Given the description of an element on the screen output the (x, y) to click on. 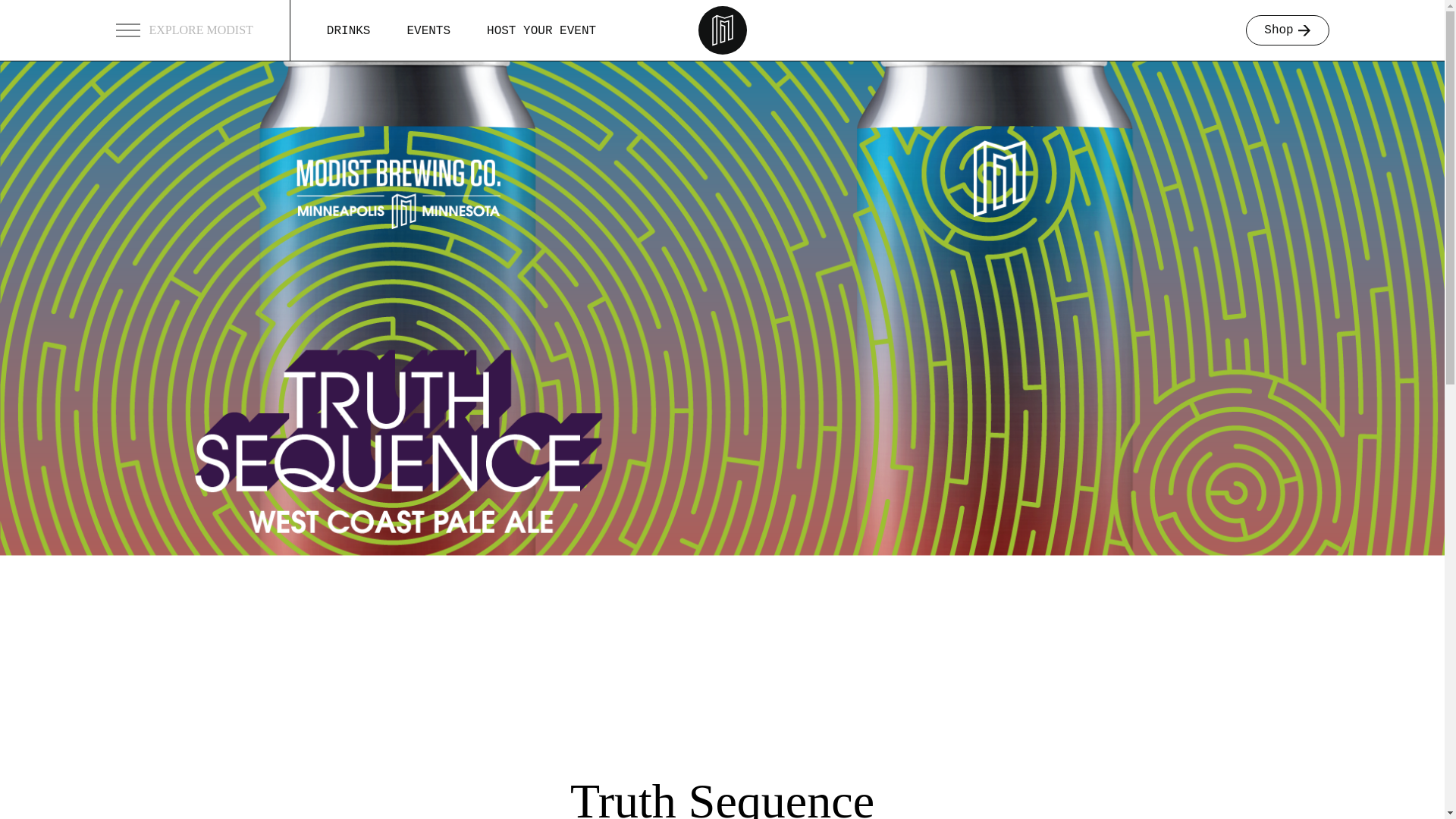
DRINKS (348, 30)
Shop (1285, 30)
HOST YOUR EVENT (540, 30)
EVENTS (427, 30)
EXPLORE MODIST (202, 30)
